Given the description of an element on the screen output the (x, y) to click on. 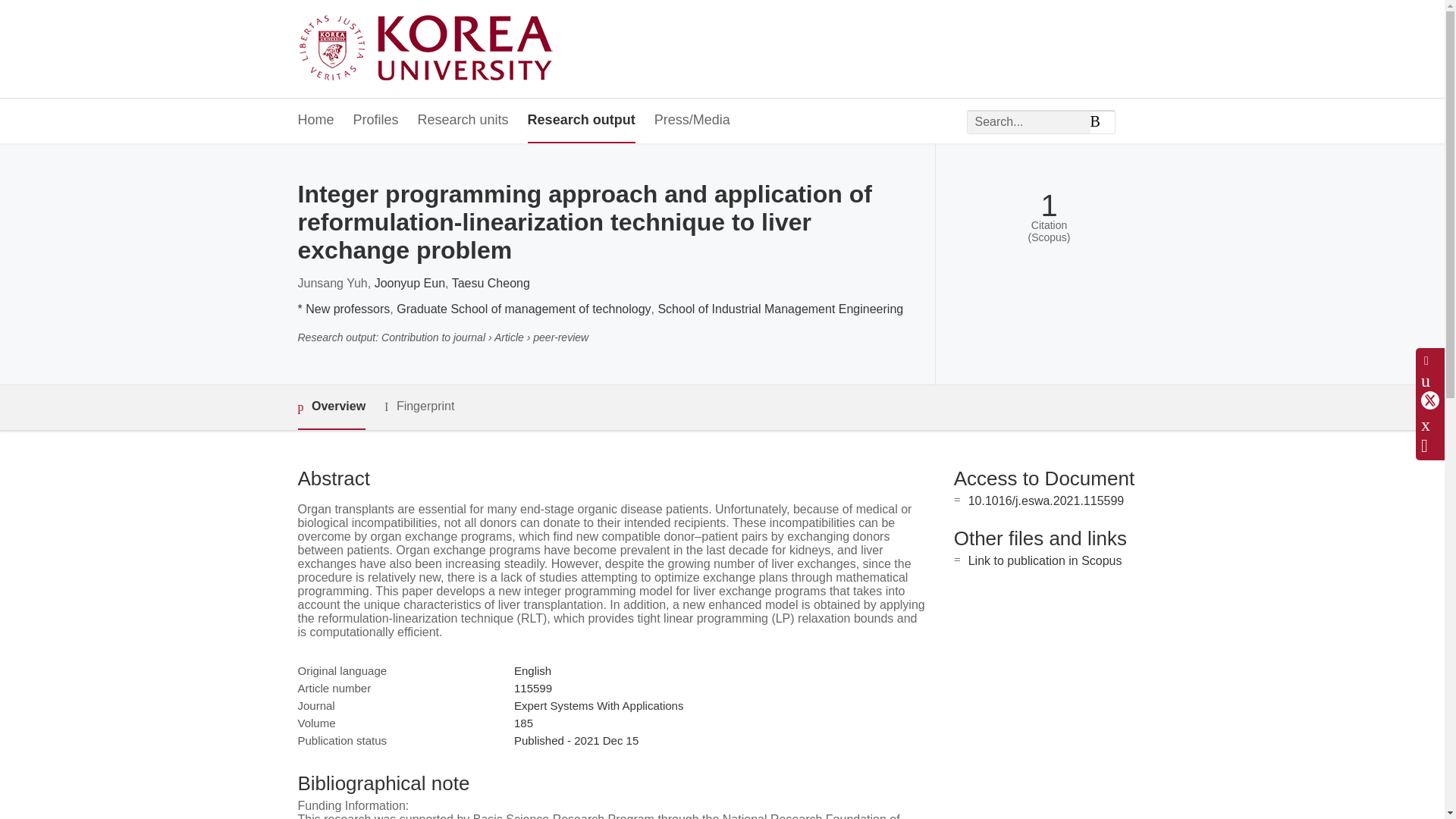
Expert Systems With Applications (597, 705)
Taesu Cheong (490, 282)
Graduate School of management of technology (523, 308)
Overview (331, 406)
Link to publication in Scopus (1045, 560)
Profiles (375, 120)
Research output (580, 120)
Joonyup Eun (409, 282)
School of Industrial Management Engineering (780, 308)
Korea University Home (429, 49)
Fingerprint (419, 406)
Research units (462, 120)
